Given the description of an element on the screen output the (x, y) to click on. 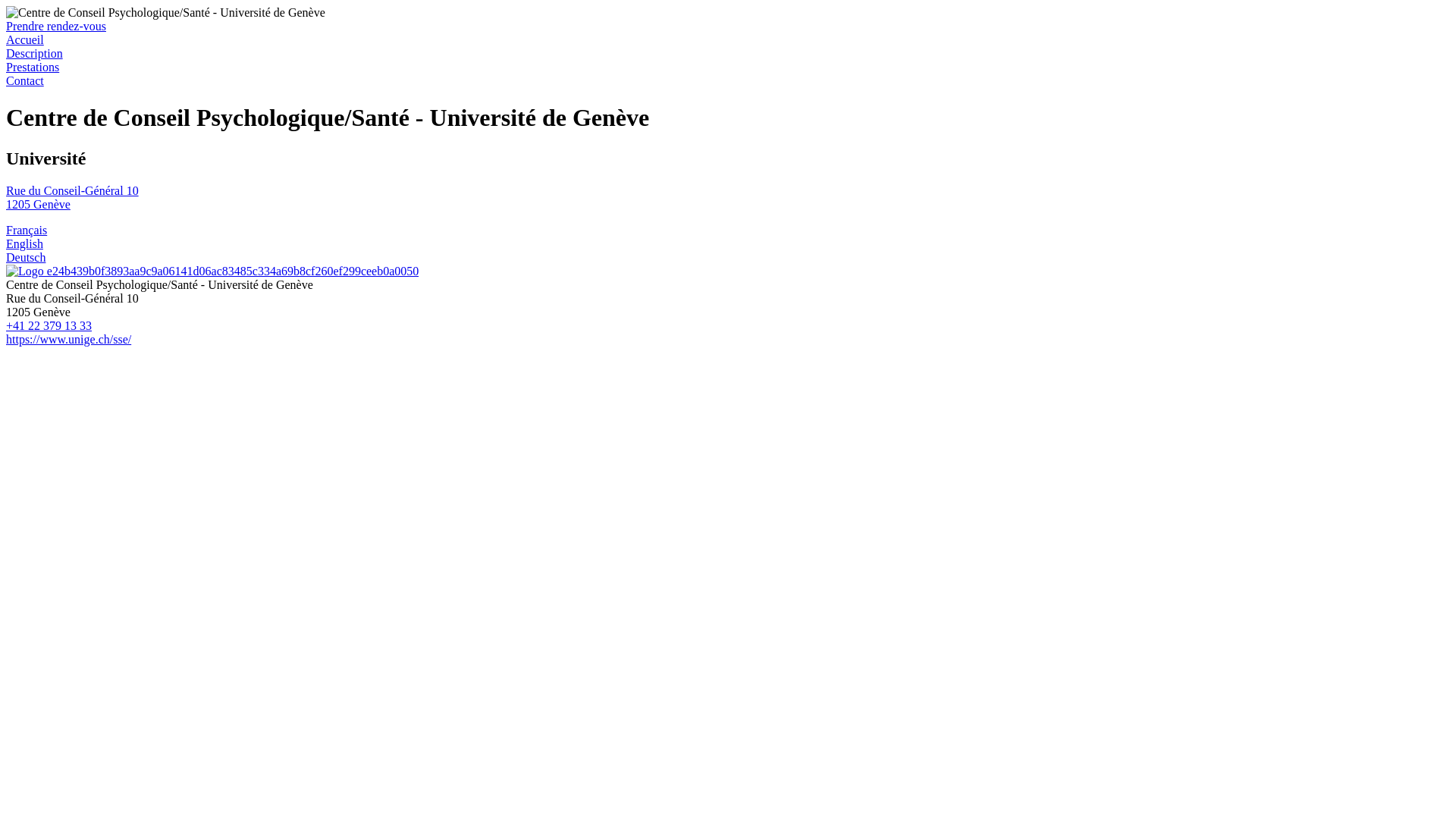
Prestations Element type: text (32, 66)
English Element type: text (24, 243)
Contact Element type: text (24, 80)
https://www.unige.ch/sse/ Element type: text (68, 338)
+41 22 379 13 33 Element type: text (48, 325)
Prendre rendez-vous Element type: text (56, 25)
Description Element type: text (34, 53)
Accueil Element type: text (24, 39)
Deutsch Element type: text (25, 257)
